Given the description of an element on the screen output the (x, y) to click on. 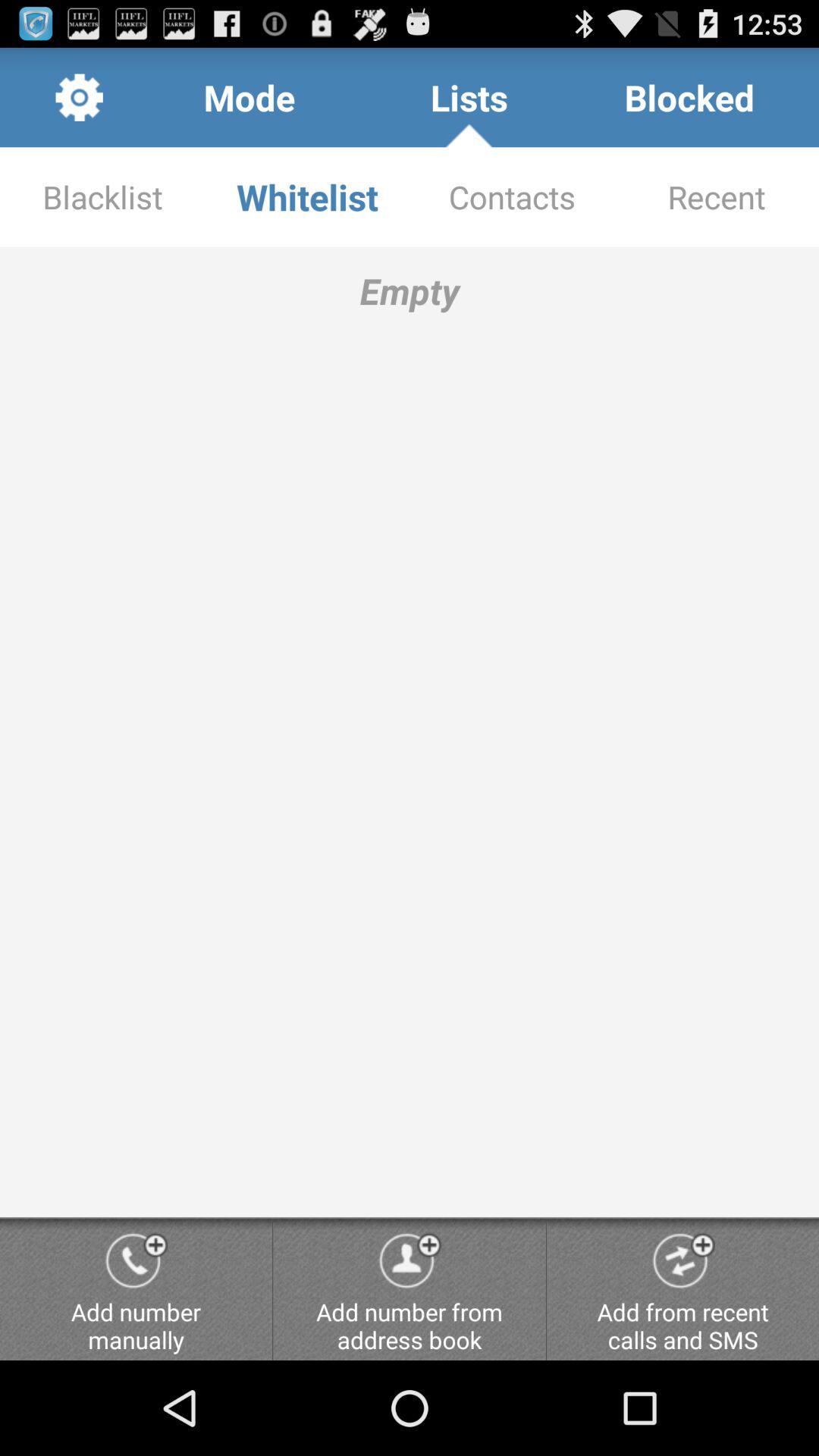
press the app to the left of recent (511, 196)
